Given the description of an element on the screen output the (x, y) to click on. 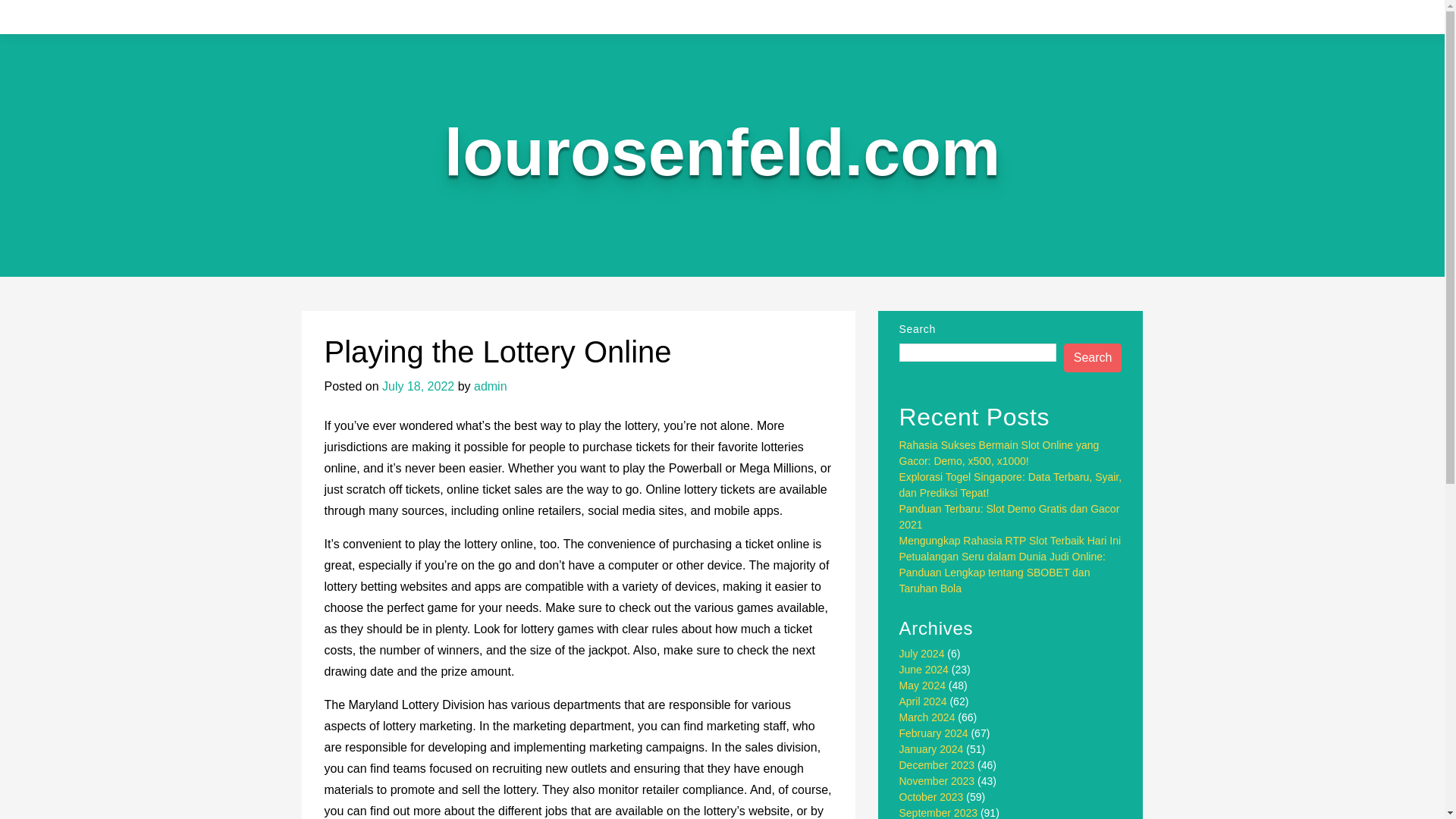
Search (1093, 357)
February 2024 (933, 733)
July 2024 (921, 653)
July 18, 2022 (417, 386)
December 2023 (937, 765)
March 2024 (927, 717)
admin (490, 386)
October 2023 (931, 797)
September 2023 (938, 812)
April 2024 (923, 701)
November 2023 (937, 780)
June 2024 (924, 669)
